Given the description of an element on the screen output the (x, y) to click on. 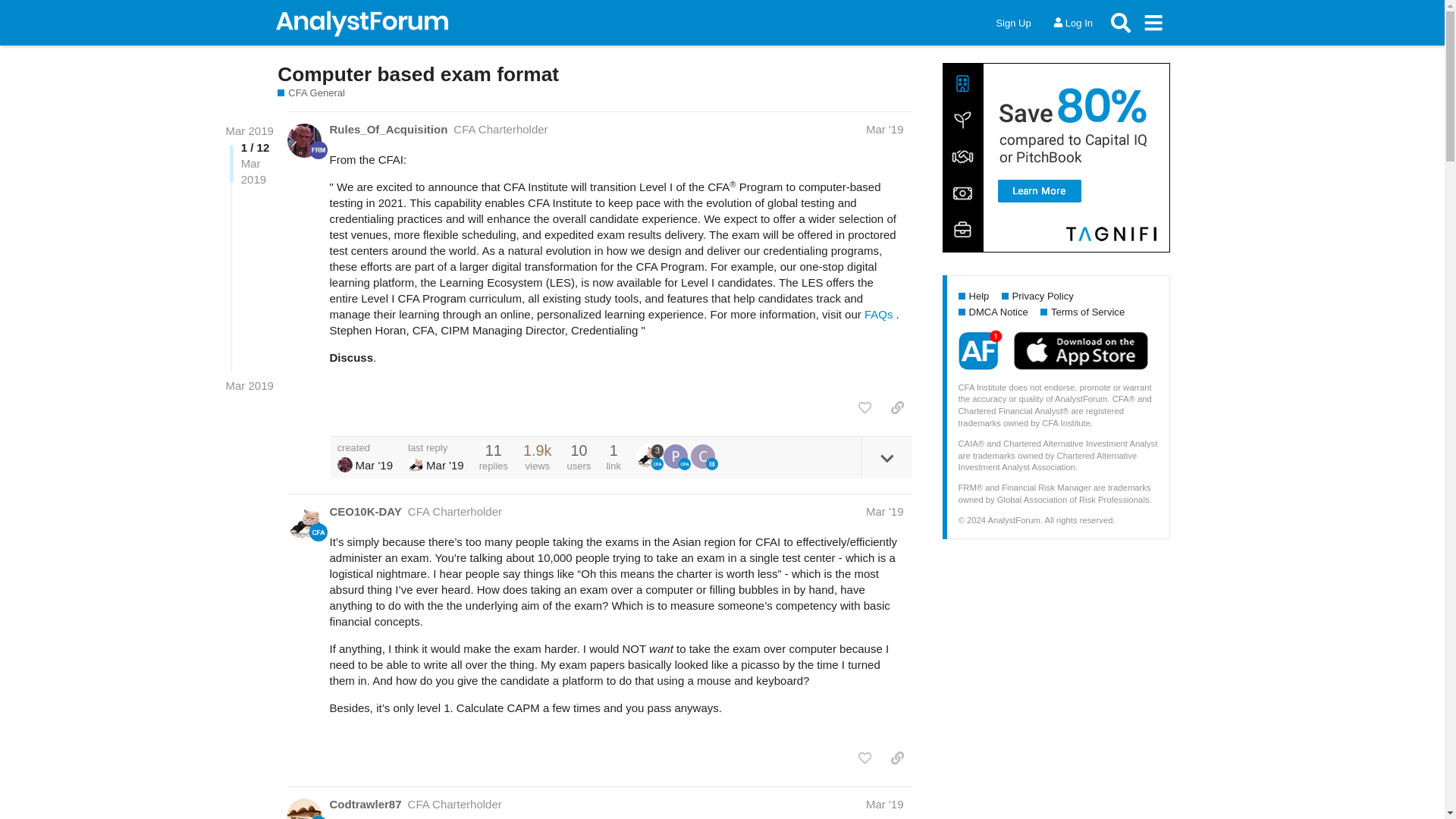
Mar '19 (885, 128)
share a link to this post (897, 407)
Sign Up (1013, 23)
menu (1153, 22)
CFA Charterholder (454, 803)
Mar 2019 (249, 130)
frm-charterholder (317, 149)
CEO10K-DAY (365, 511)
Mar 4, 2019 11:25 pm (374, 464)
Mar '19 (885, 511)
